Given the description of an element on the screen output the (x, y) to click on. 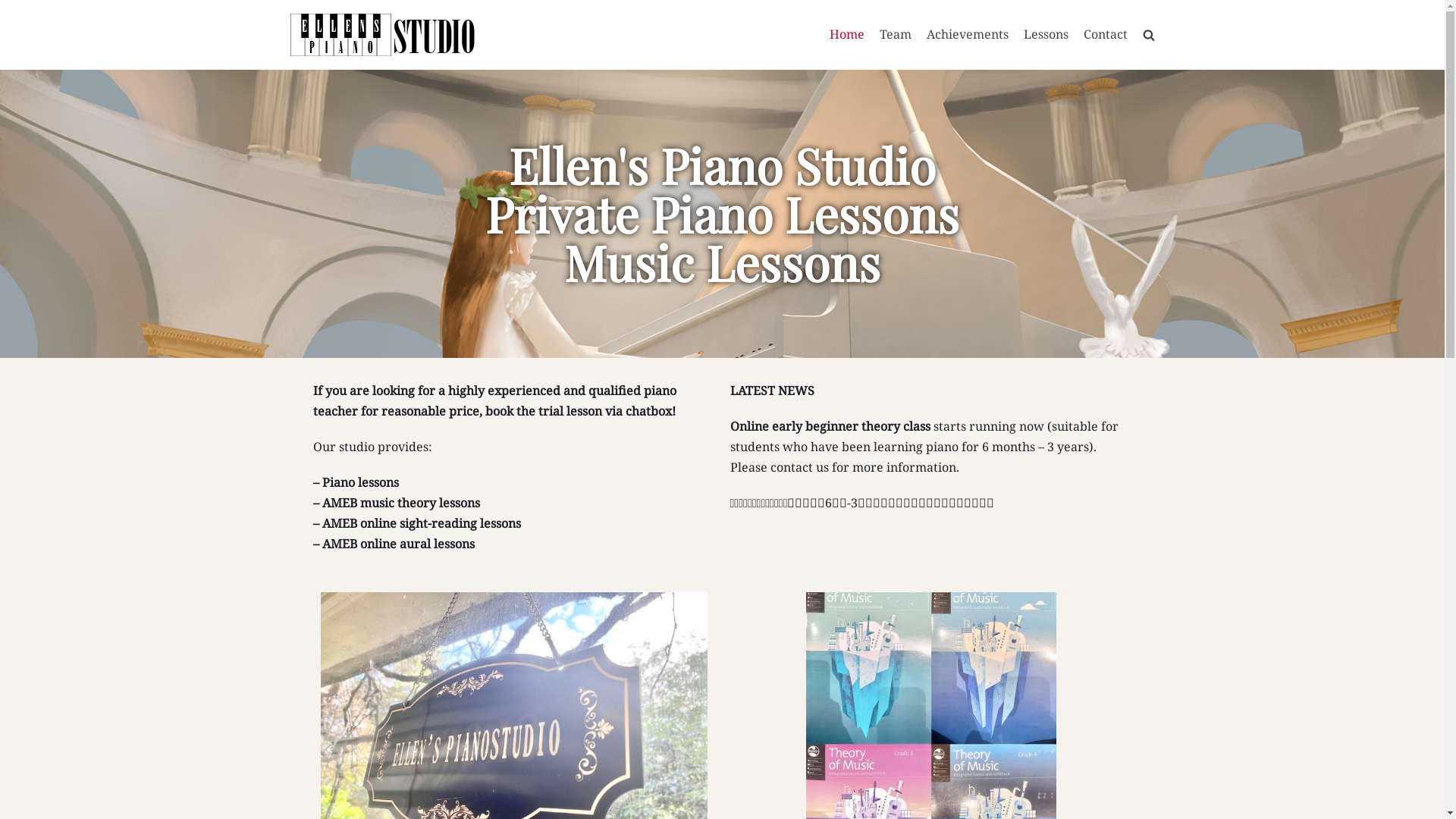
Contact Element type: text (1104, 34)
Search Element type: text (1122, 68)
Team Element type: text (895, 34)
Home Element type: text (846, 34)
Ellens Piano Studio Sydney Element type: hover (384, 34)
Skip to content Element type: text (15, 7)
Achievements Element type: text (967, 34)
Lessons Element type: text (1045, 34)
